Given the description of an element on the screen output the (x, y) to click on. 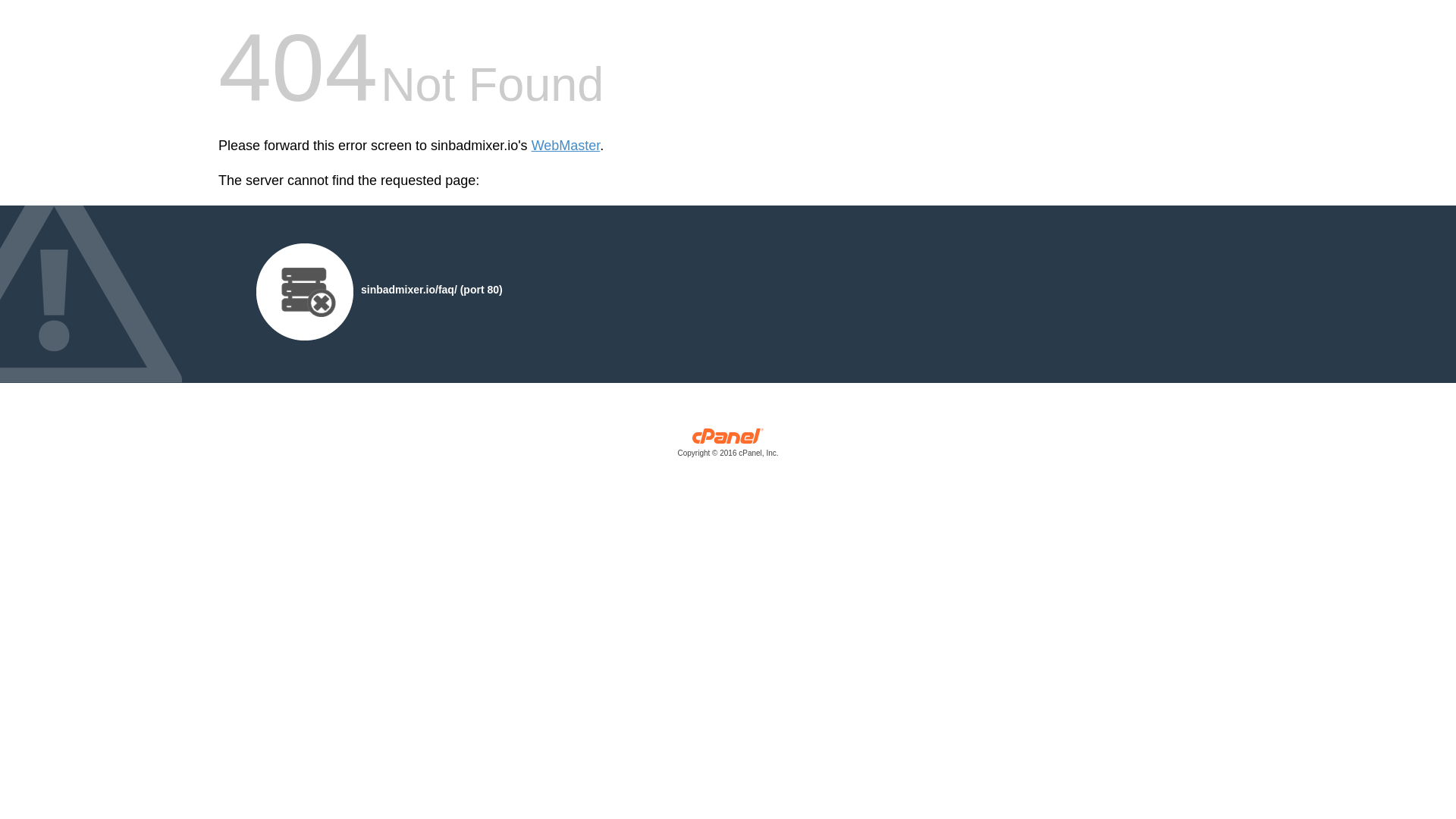
cPanel, Inc. (727, 446)
WebMaster (565, 145)
